Given the description of an element on the screen output the (x, y) to click on. 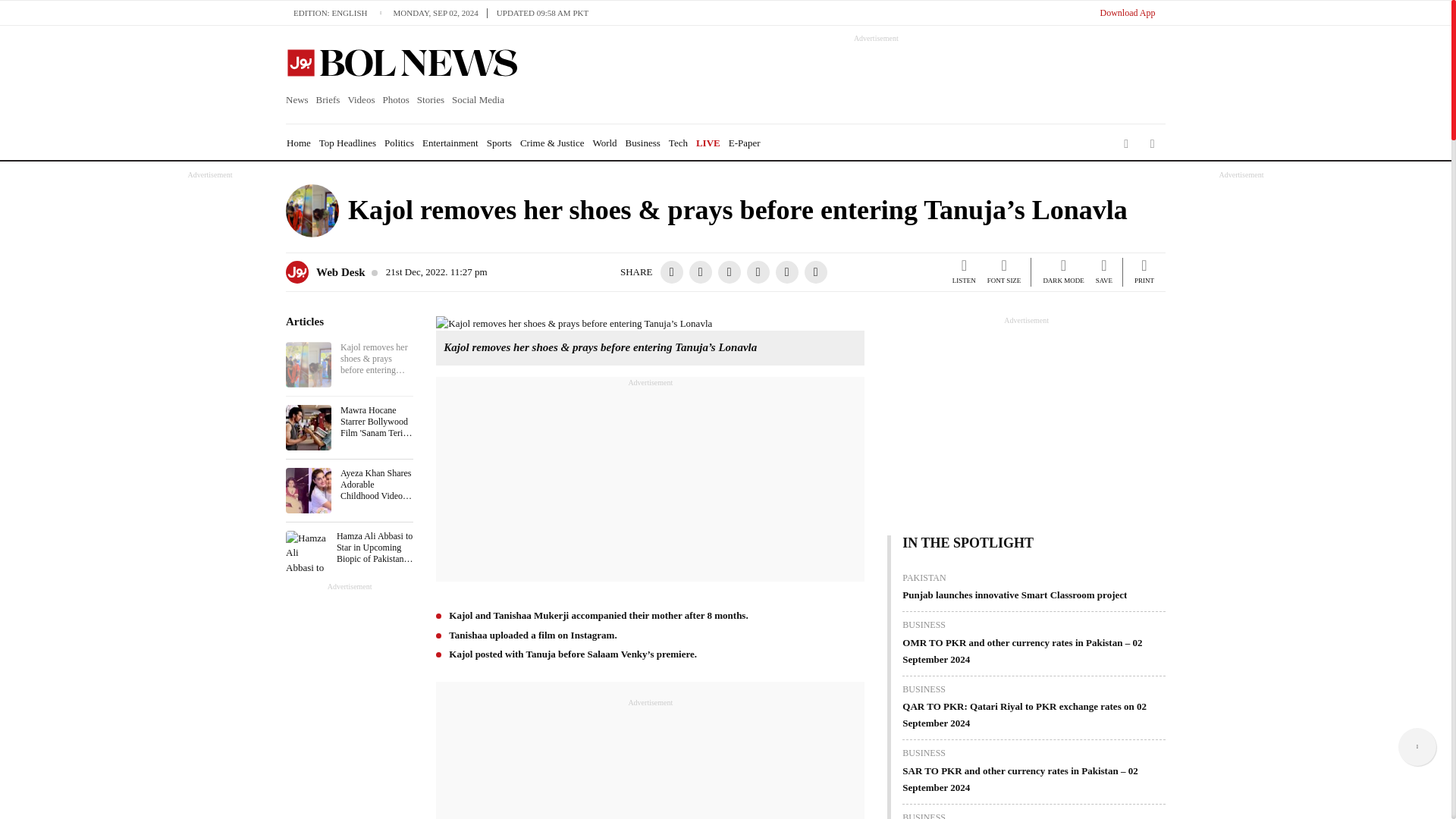
Business (643, 143)
Photos (395, 99)
UPDATED 09:58 AM PKT (541, 12)
Download App (1127, 12)
Videos (360, 99)
Social Media (478, 99)
Top Headlines (346, 143)
MONDAY, SEP 02, 2024 (439, 12)
Briefs (328, 99)
Entertainment (450, 143)
